Given the description of an element on the screen output the (x, y) to click on. 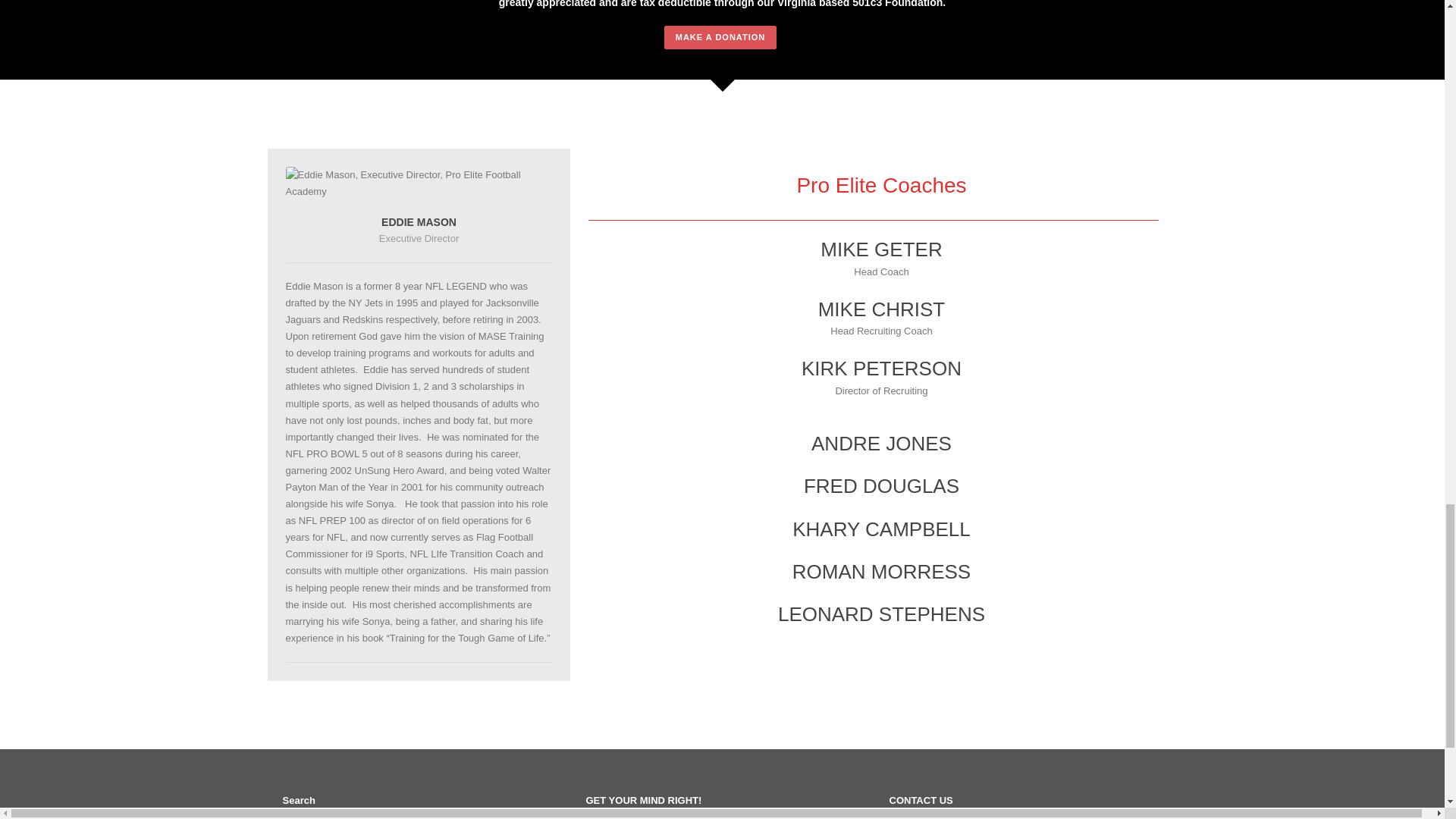
MAKE A DONATION (719, 37)
